Given the description of an element on the screen output the (x, y) to click on. 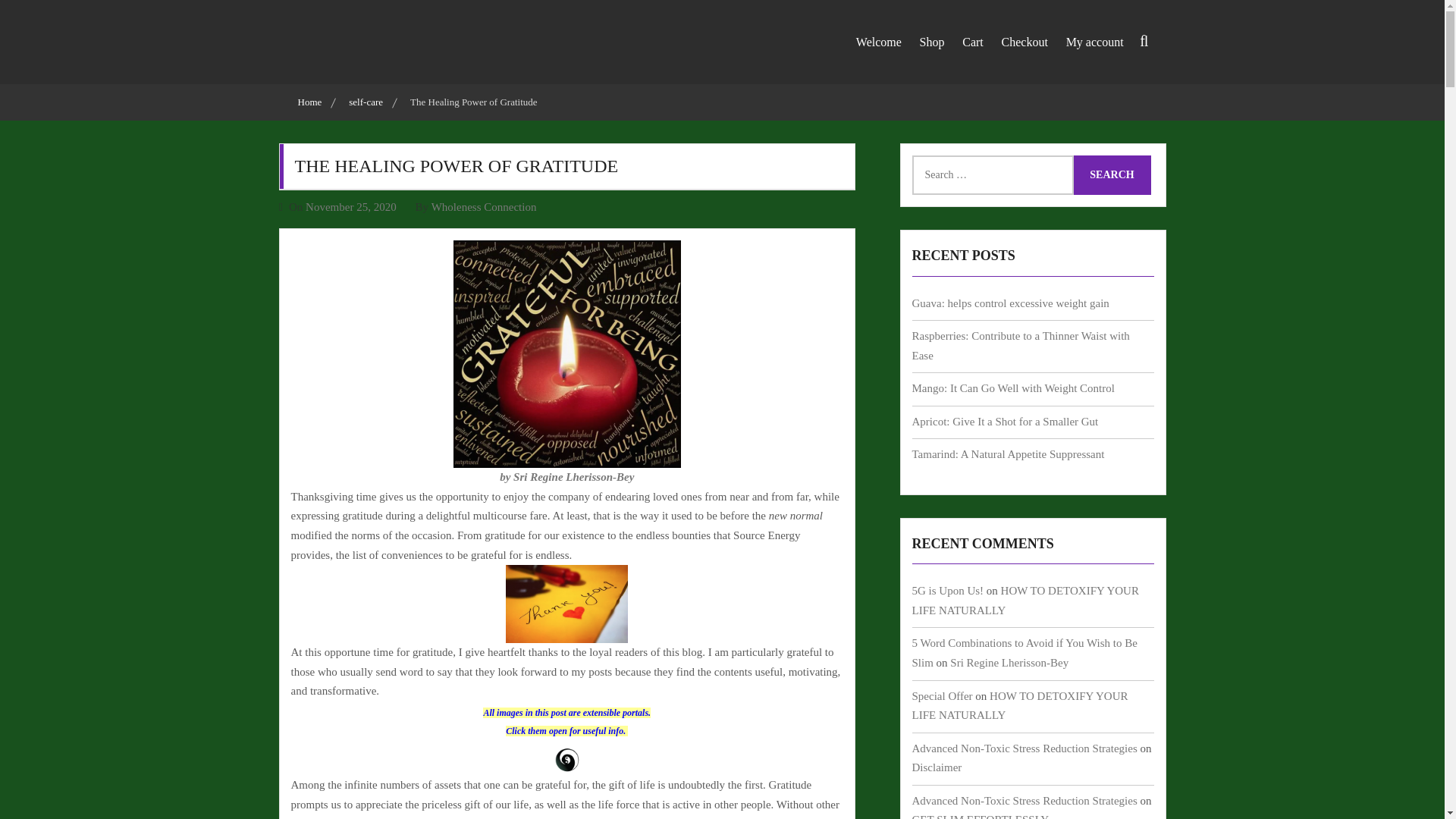
Search (1112, 174)
Search (1112, 174)
Home (310, 101)
Wholeness Connection (483, 206)
by Sri Regine Lherisson-Bey (566, 476)
Cart (973, 41)
My account (1094, 41)
Search (1088, 96)
self-care (368, 101)
Welcome (878, 41)
November 25, 2020 (350, 206)
Checkout (1024, 41)
Shop (932, 41)
